Given the description of an element on the screen output the (x, y) to click on. 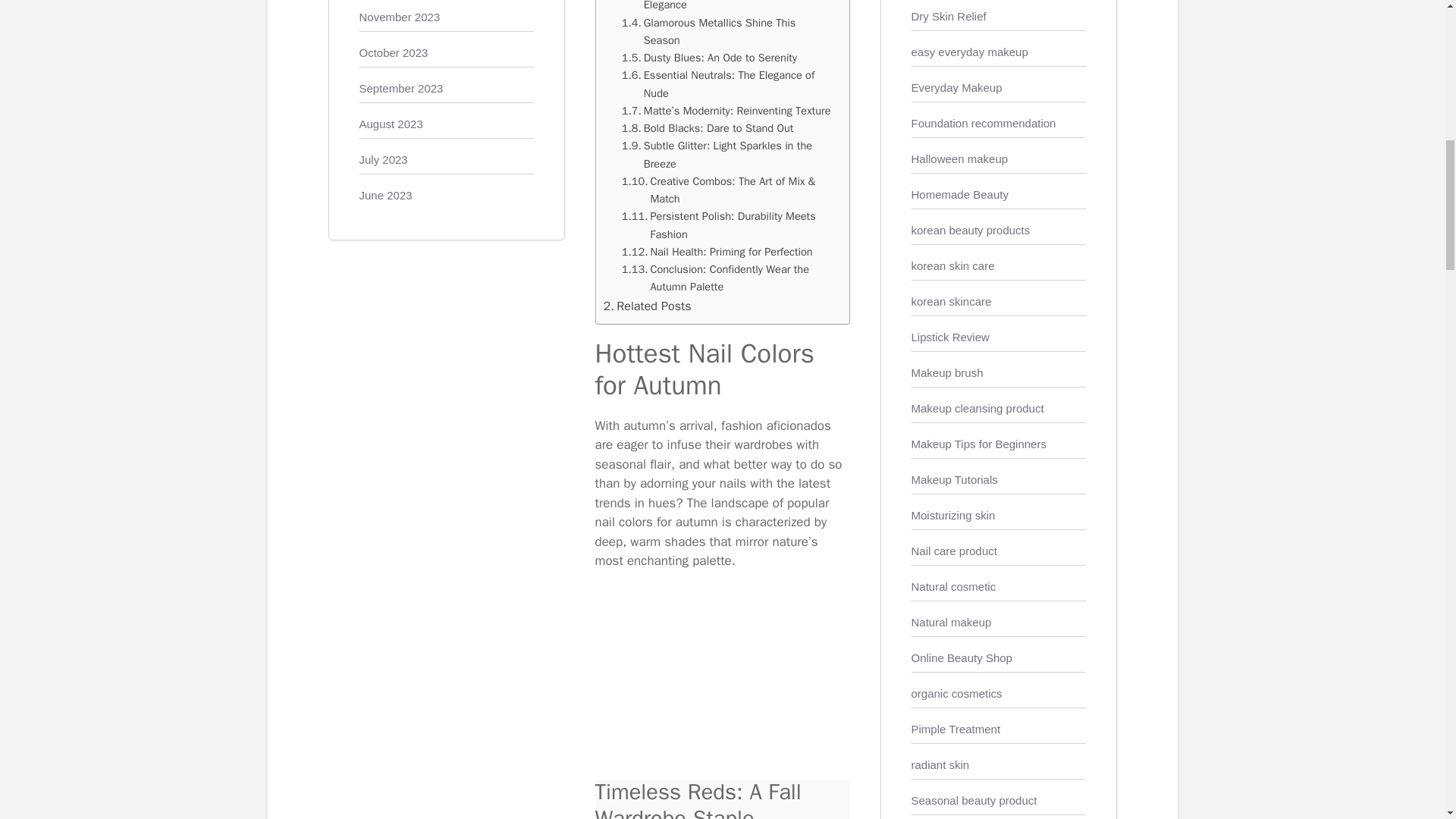
Conclusion: Confidently Wear the Autumn Palette (727, 278)
Essential Neutrals: The Elegance of Nude (727, 84)
Persistent Polish: Durability Meets Fashion (727, 225)
Essential Neutrals: The Elegance of Nude (727, 84)
Persistent Polish: Durability Meets Fashion (727, 225)
Olive Green: Chic Nature-Inspired Elegance (727, 7)
Bold Blacks: Dare to Stand Out (707, 128)
Nail Health: Priming for Perfection (716, 252)
Conclusion: Confidently Wear the Autumn Palette (727, 278)
Dusty Blues: An Ode to Serenity (708, 57)
